Given the description of an element on the screen output the (x, y) to click on. 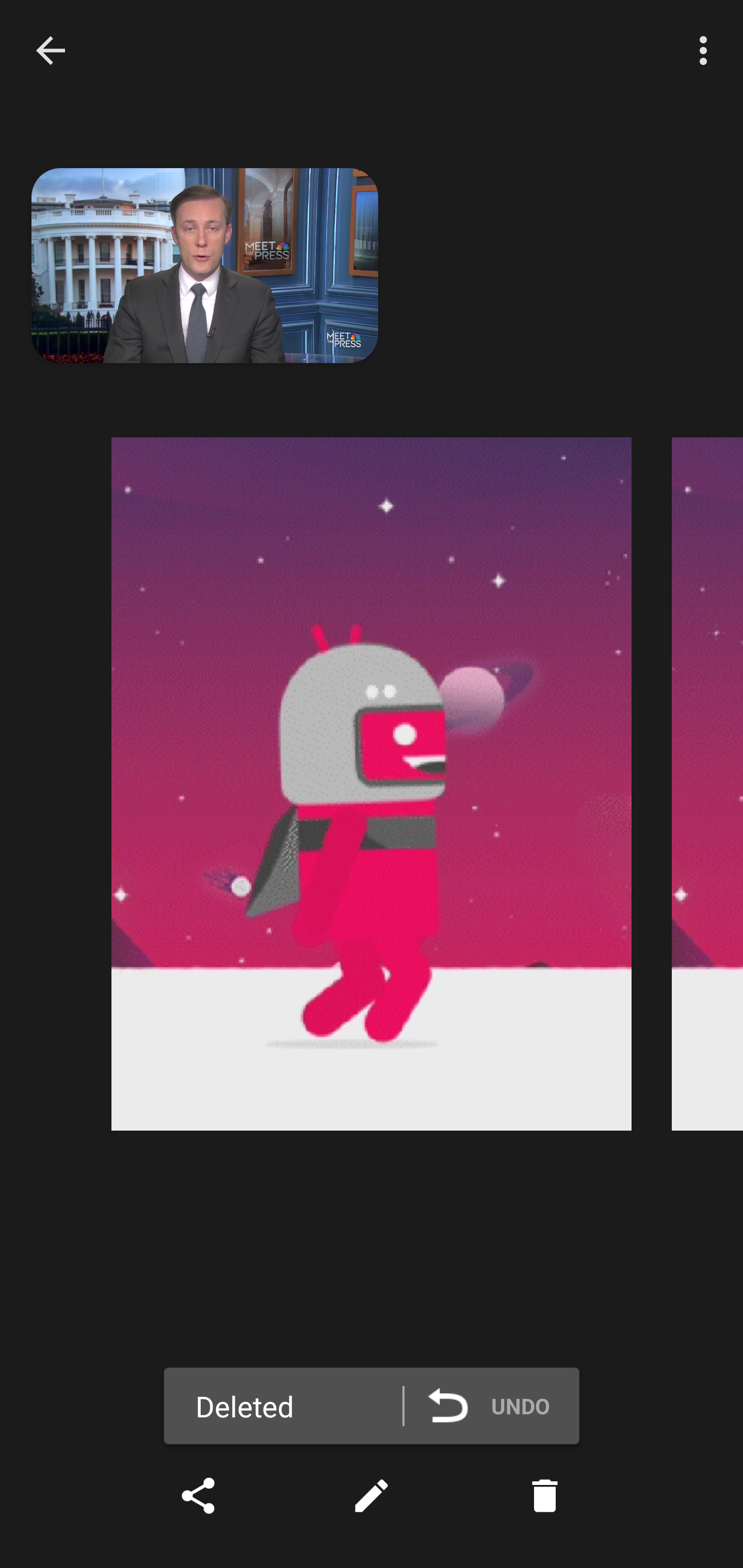
Navigate up (50, 50)
More options (706, 50)
Deleted UNDO (371, 1408)
UNDO (498, 1405)
Share (197, 1495)
Edit (371, 1495)
Delete (544, 1495)
